Given the description of an element on the screen output the (x, y) to click on. 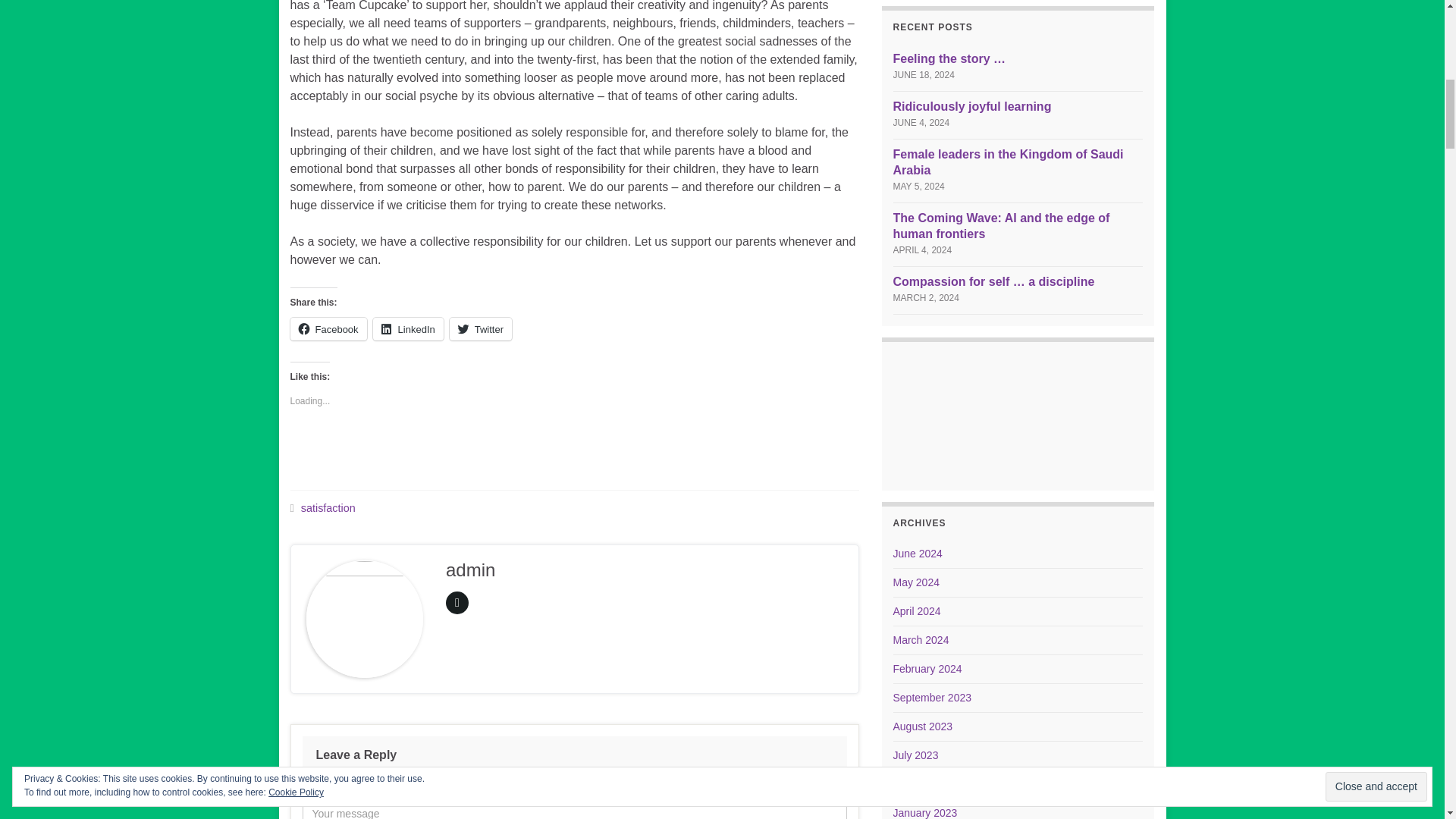
February 2024 (927, 668)
Tags (291, 507)
September 2023 (932, 697)
March 2024 (921, 639)
Click to share on Twitter (480, 328)
satisfaction (328, 508)
Click to share on Facebook (327, 328)
Like or Reblog (574, 454)
The Coming Wave: AI and the edge of human frontiers (1001, 225)
Click to share on LinkedIn (408, 328)
Ridiculously joyful learning (972, 106)
Twitter (480, 328)
Female leaders in the Kingdom of Saudi Arabia (1008, 162)
LinkedIn (408, 328)
Facebook (327, 328)
